Given the description of an element on the screen output the (x, y) to click on. 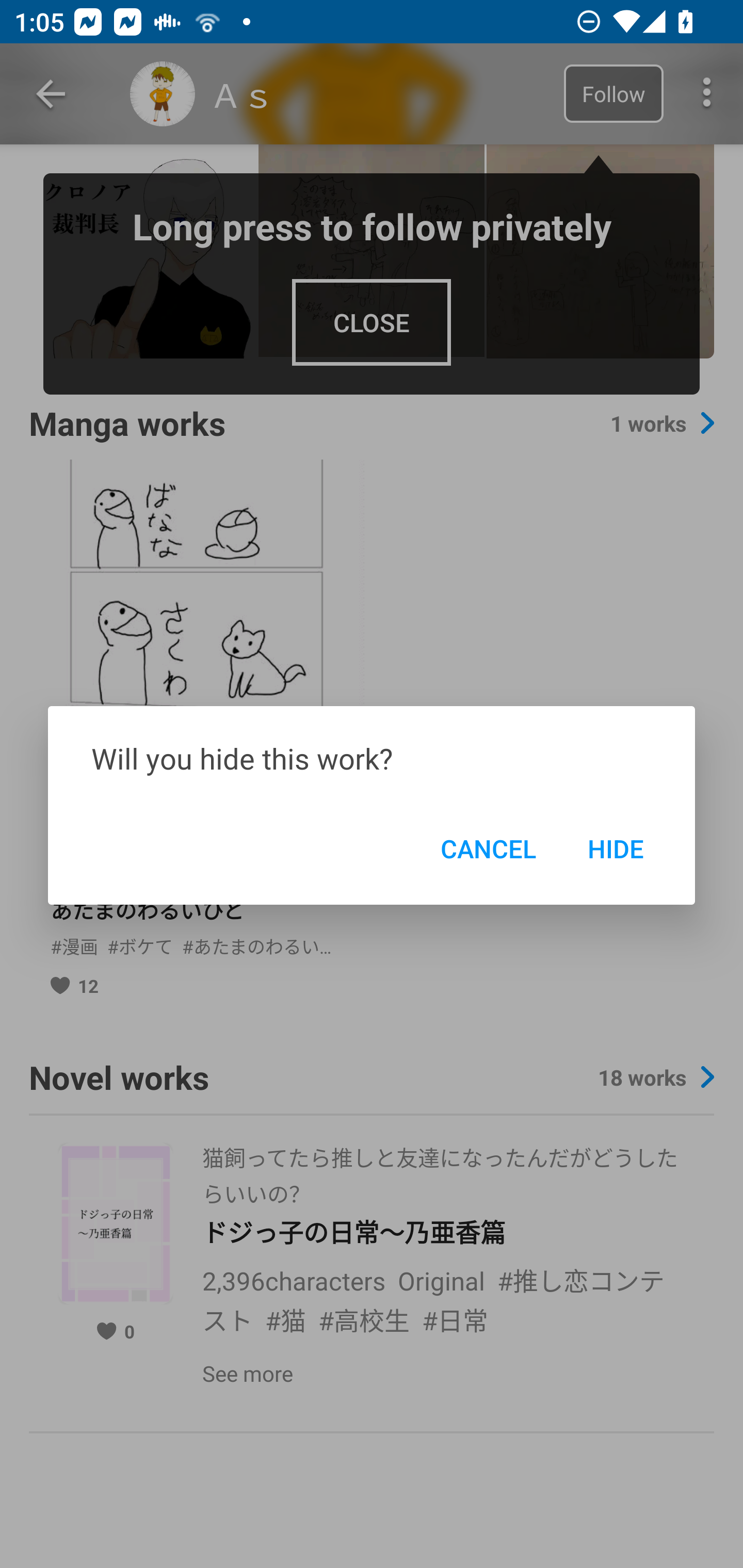
CANCEL (488, 847)
HIDE (615, 847)
